Given the description of an element on the screen output the (x, y) to click on. 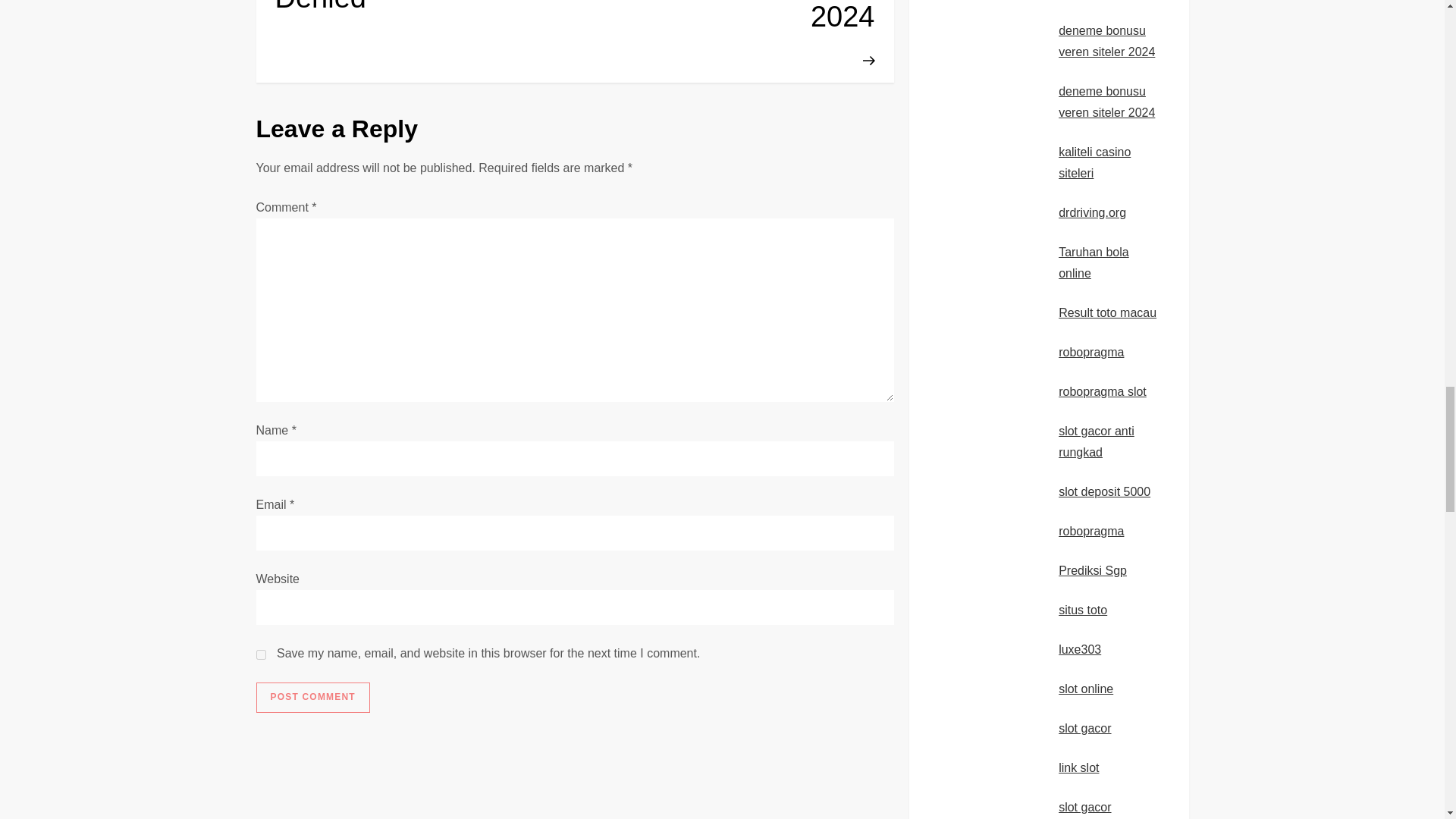
Post Comment (312, 697)
Post Comment (312, 697)
yes (261, 655)
